Given the description of an element on the screen output the (x, y) to click on. 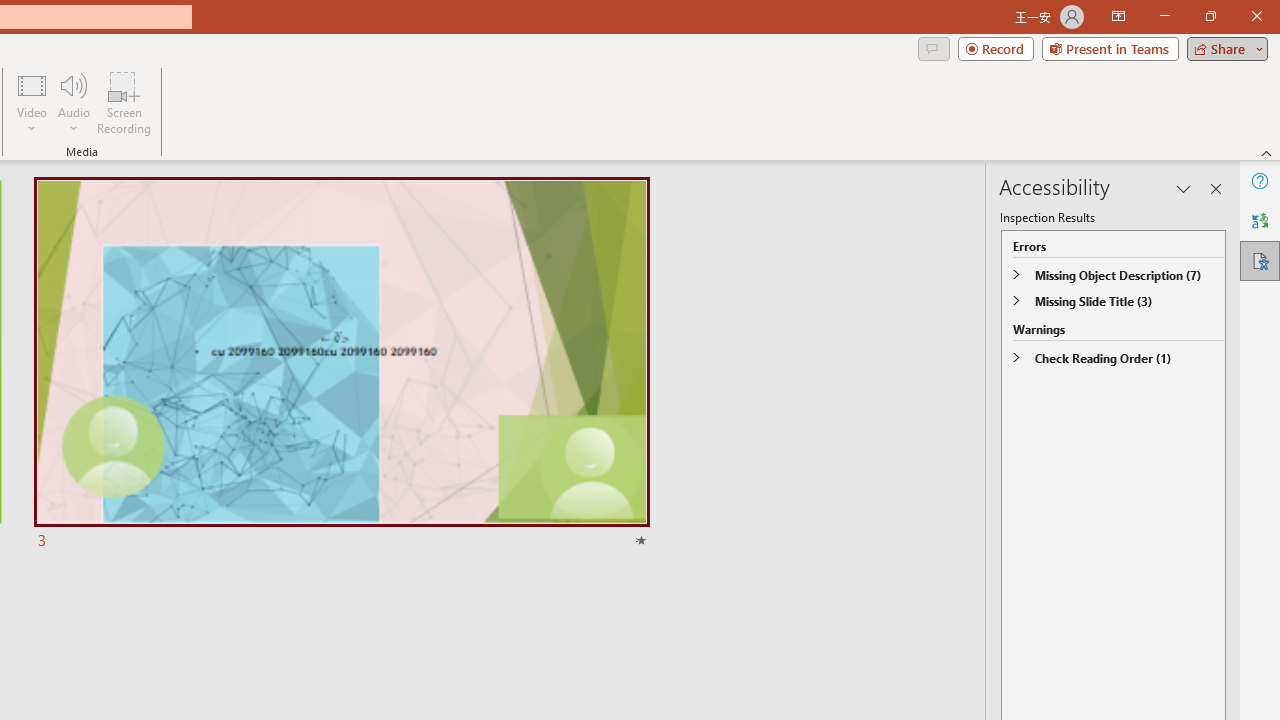
Video (31, 102)
